Given the description of an element on the screen output the (x, y) to click on. 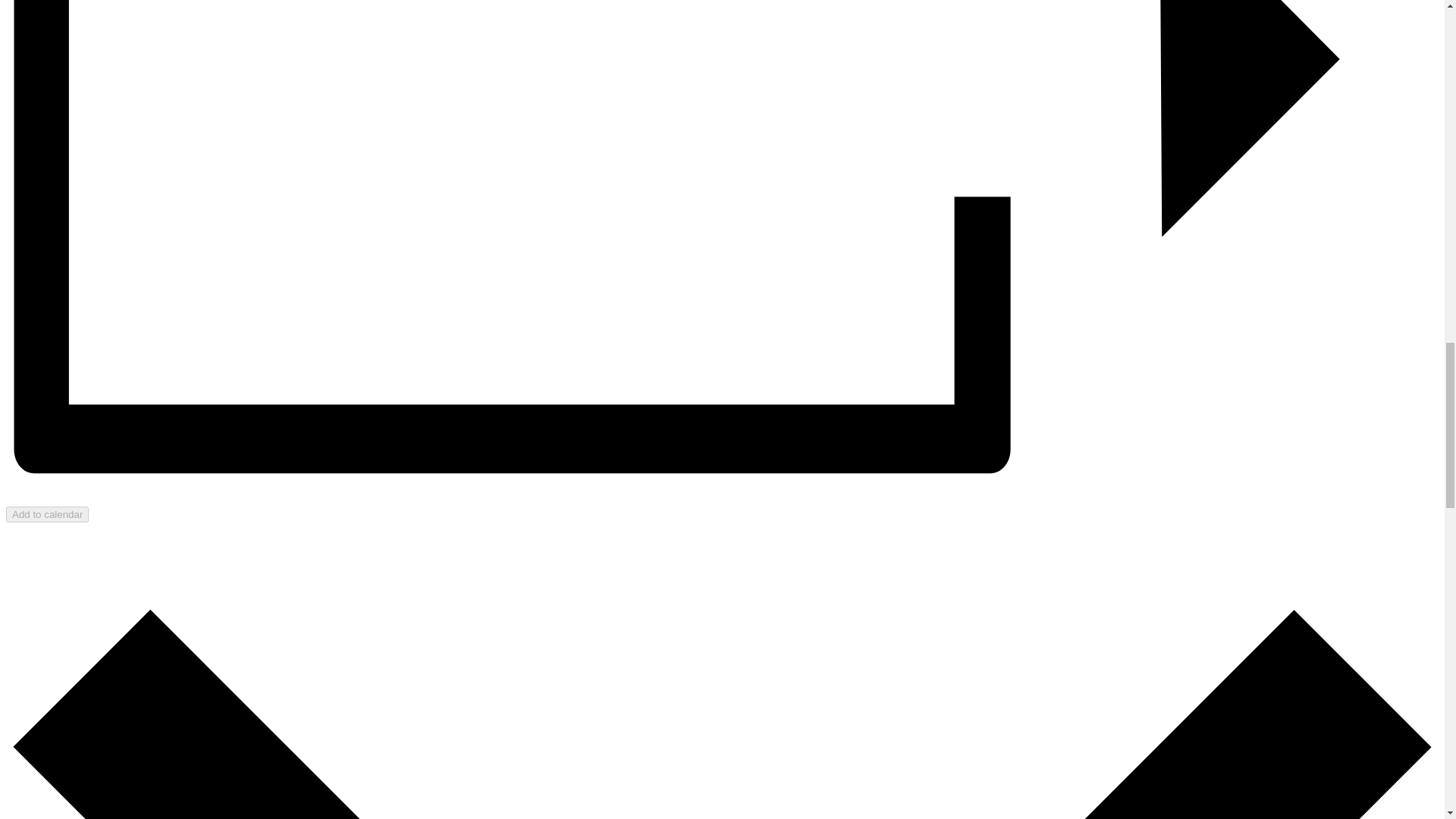
Add to calendar (46, 514)
